Given the description of an element on the screen output the (x, y) to click on. 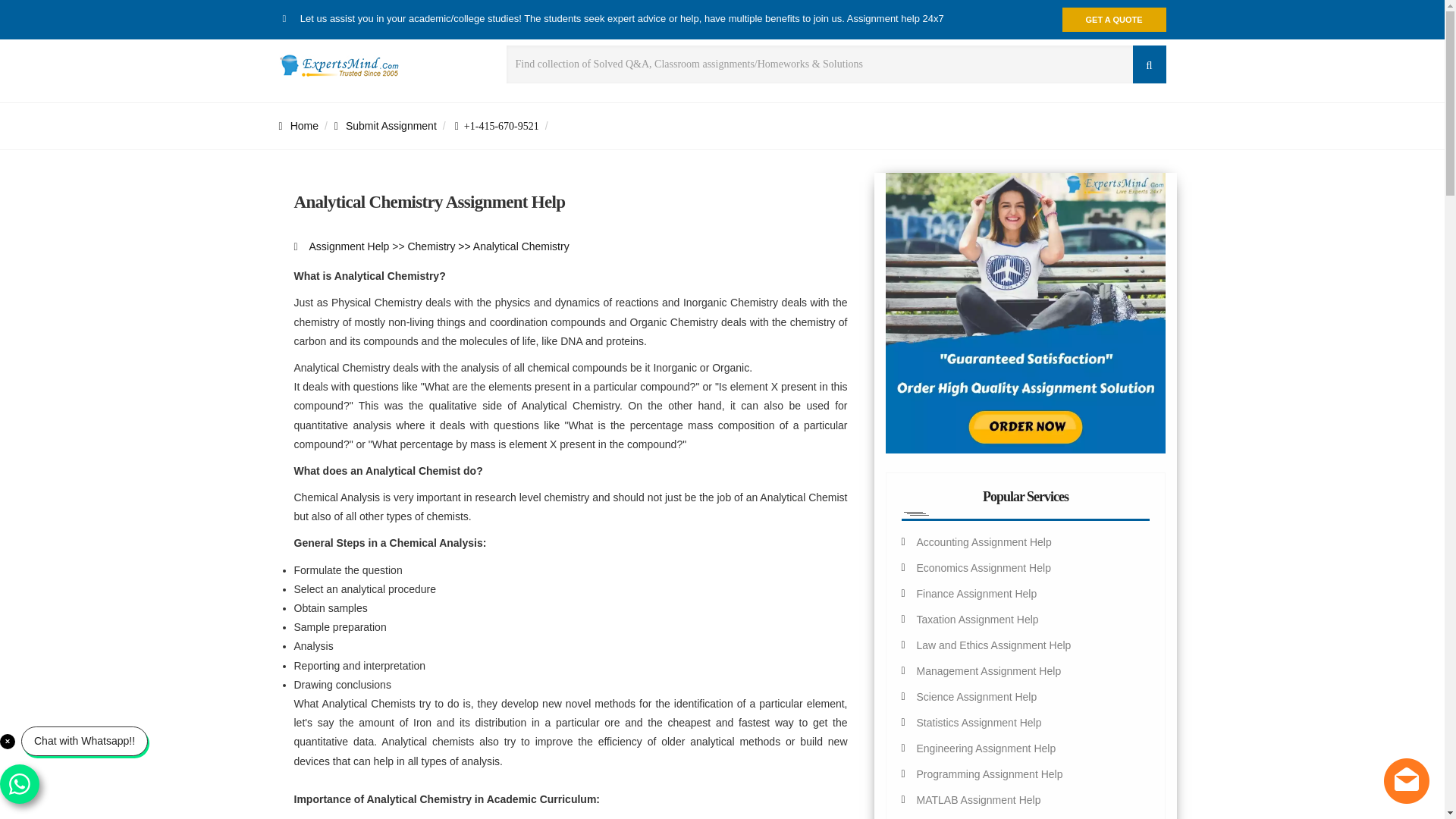
Assignment Help (349, 246)
Science Assignment Help (975, 696)
Law and Ethics Assignment Help (992, 645)
GET A QUOTE (1114, 19)
Management Assignment Help (988, 671)
MATLAB Assignment Help (978, 799)
Engineering Assignment Help (985, 748)
Economics Assignment Help (982, 567)
Home (298, 125)
assignment help (349, 246)
Live chat offline (1406, 780)
GET A QUOTE (1114, 19)
Taxation Assignment Help (976, 619)
Accounting Assignment Help (983, 541)
assignment help (298, 125)
